Given the description of an element on the screen output the (x, y) to click on. 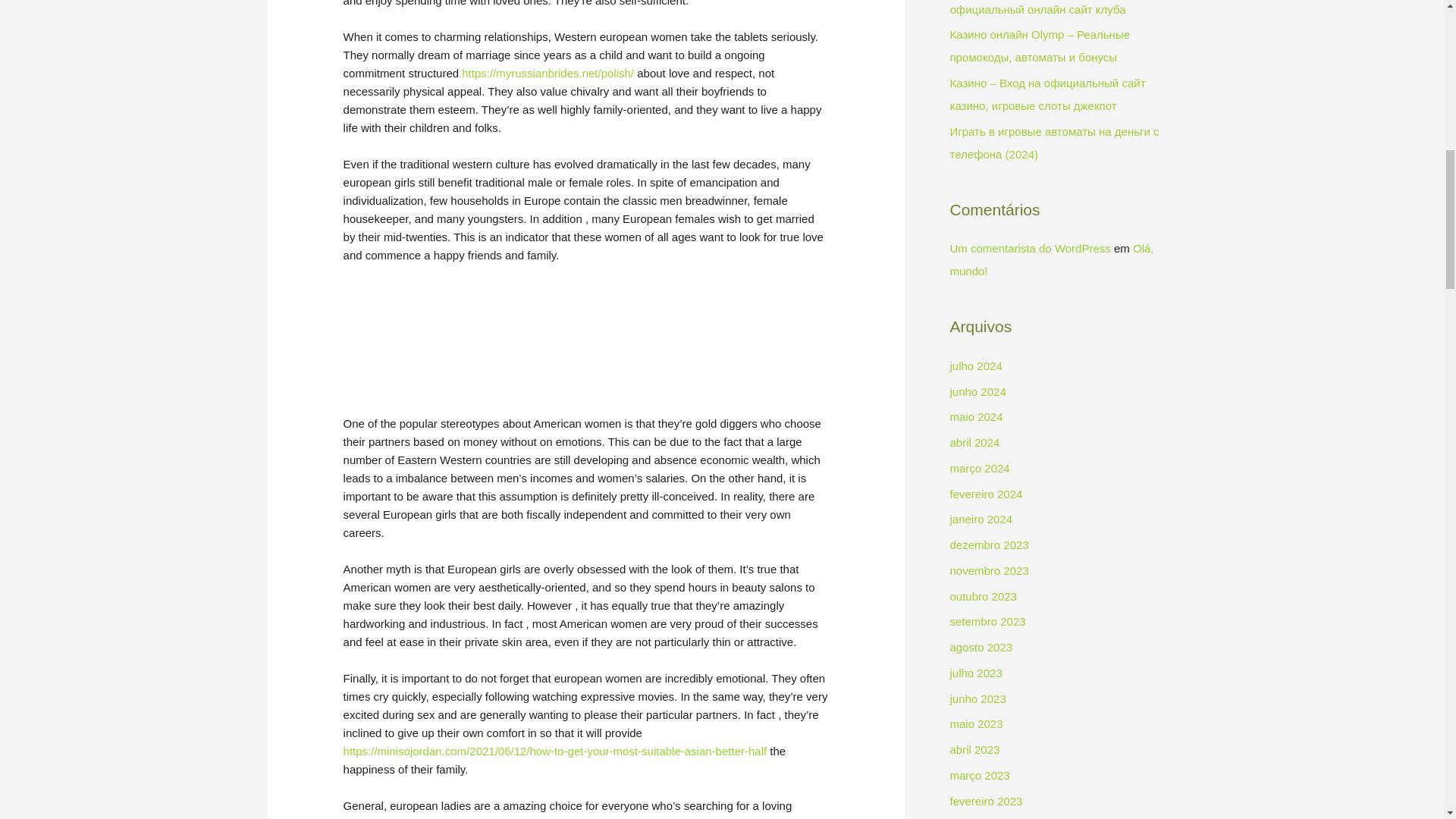
julho 2024 (975, 365)
maio 2024 (976, 416)
Um comentarista do WordPress (1029, 247)
junho 2024 (977, 391)
fevereiro 2024 (985, 493)
janeiro 2024 (980, 518)
abril 2024 (973, 441)
dezembro 2023 (988, 544)
